Given the description of an element on the screen output the (x, y) to click on. 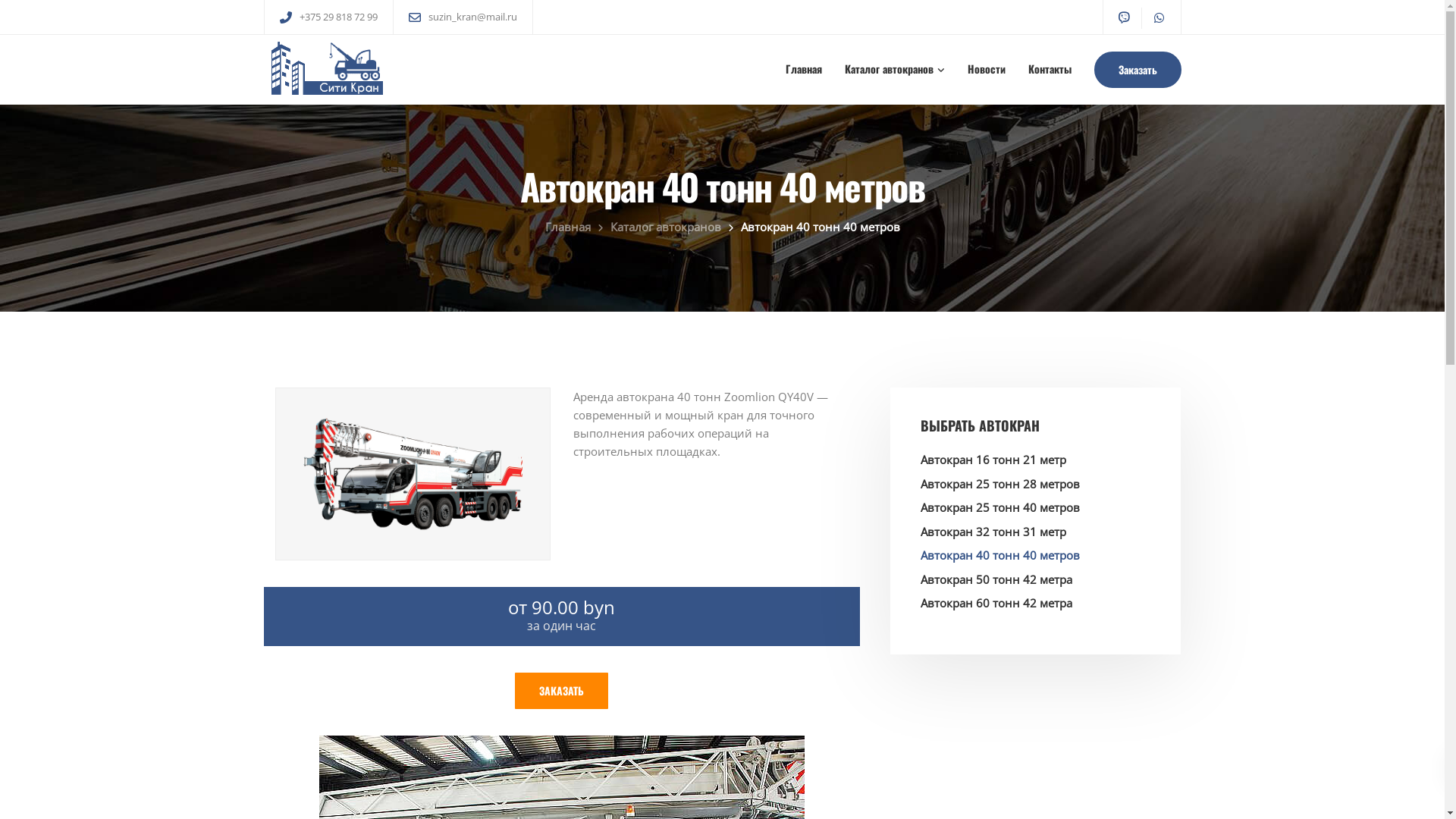
+375 29 818 72 99 Element type: text (991, 586)
suzin_kran@mail.ru Element type: text (992, 647)
suzin_kran@mail.ru Element type: text (471, 16)
+375 29 818 72 99 Element type: text (341, 16)
+375 29 700 51 15 Element type: text (991, 616)
